Given the description of an element on the screen output the (x, y) to click on. 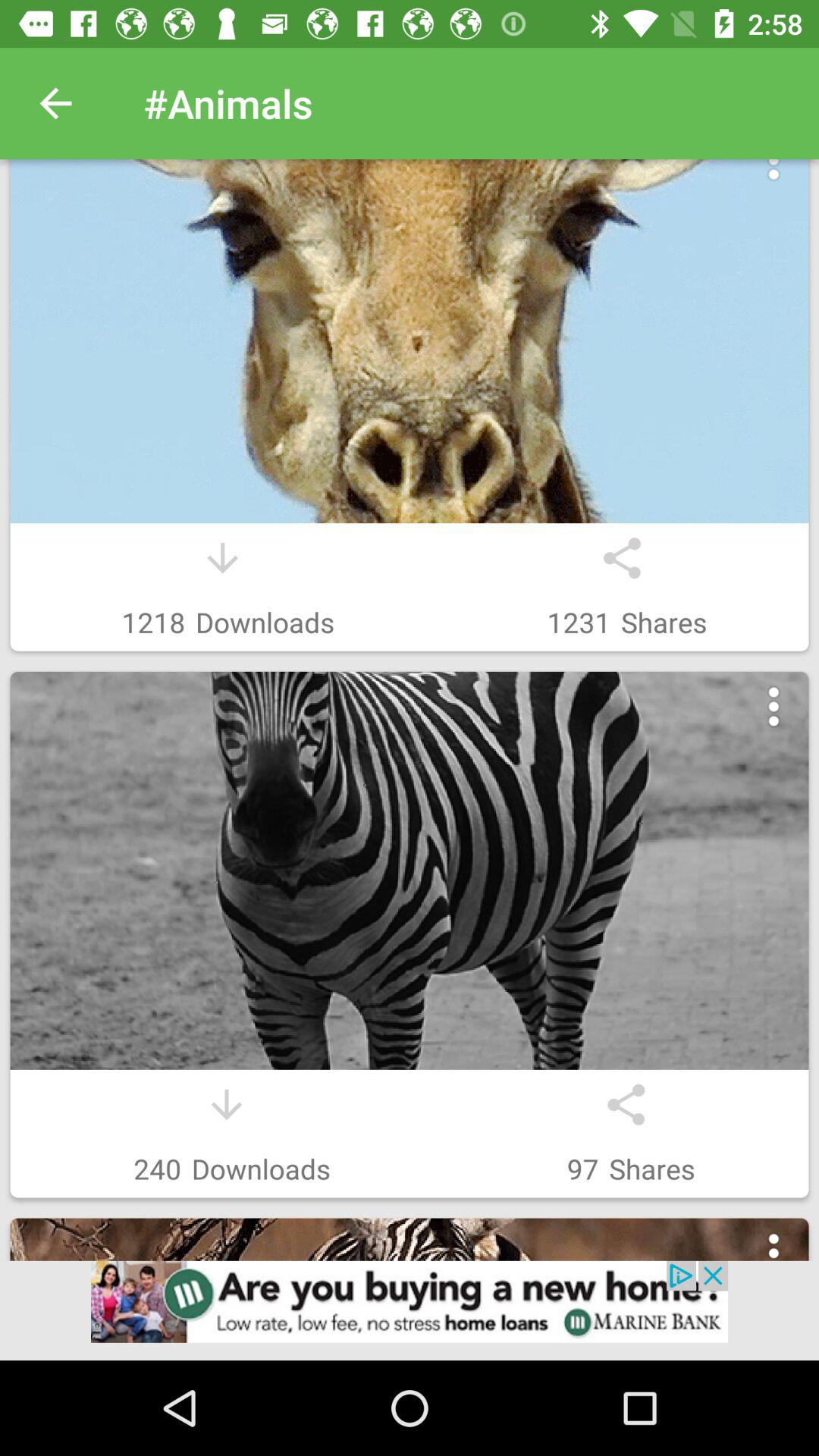
open more information (773, 1253)
